Given the description of an element on the screen output the (x, y) to click on. 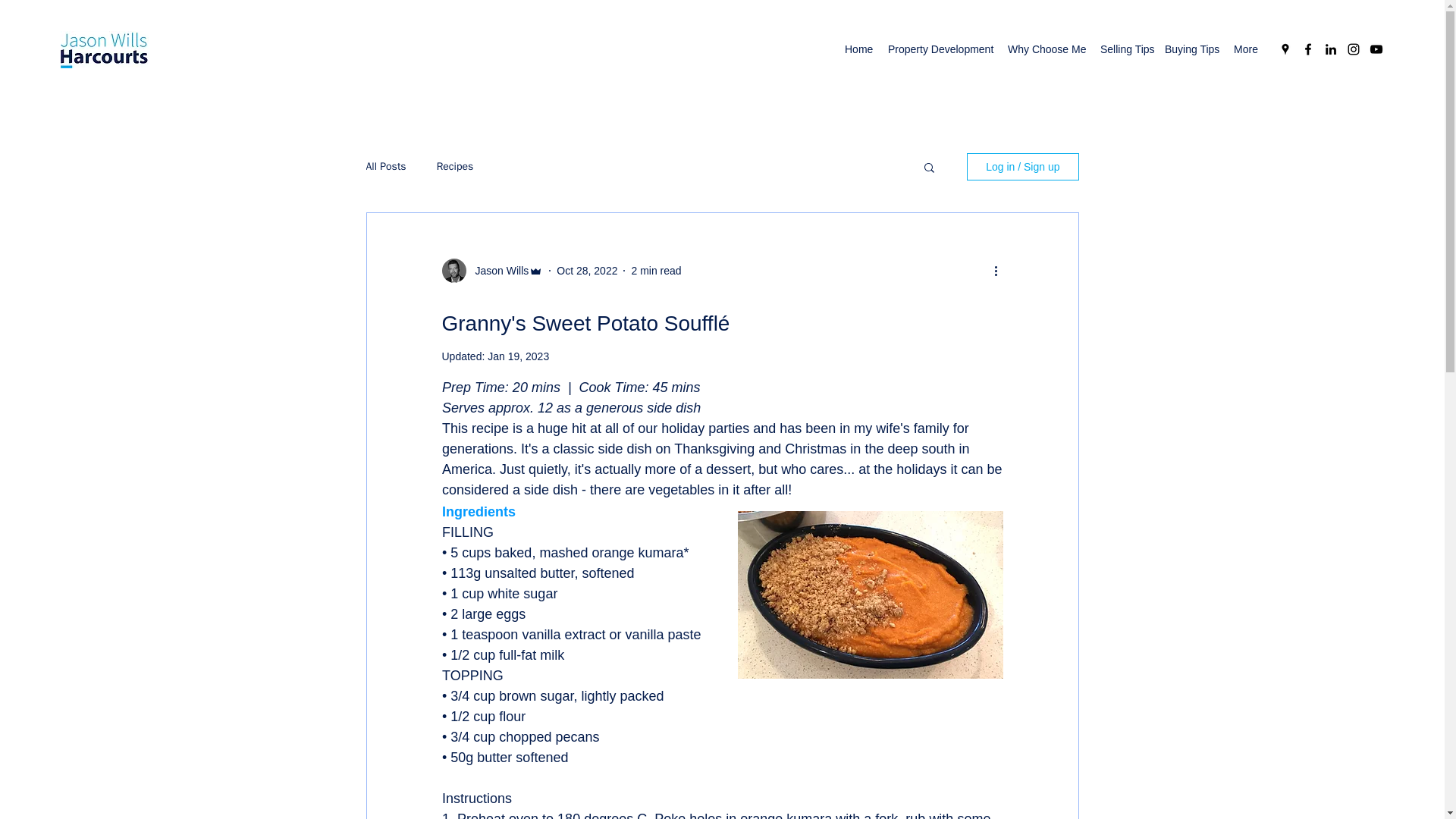
Buying Tips (1190, 48)
Oct 28, 2022 (586, 269)
Recipes (455, 166)
2 min read (655, 269)
Jan 19, 2023 (517, 356)
Why Choose Me (1046, 48)
Selling Tips (1125, 48)
All Posts (385, 166)
Jason Wills (496, 270)
Property Development (940, 48)
